Given the description of an element on the screen output the (x, y) to click on. 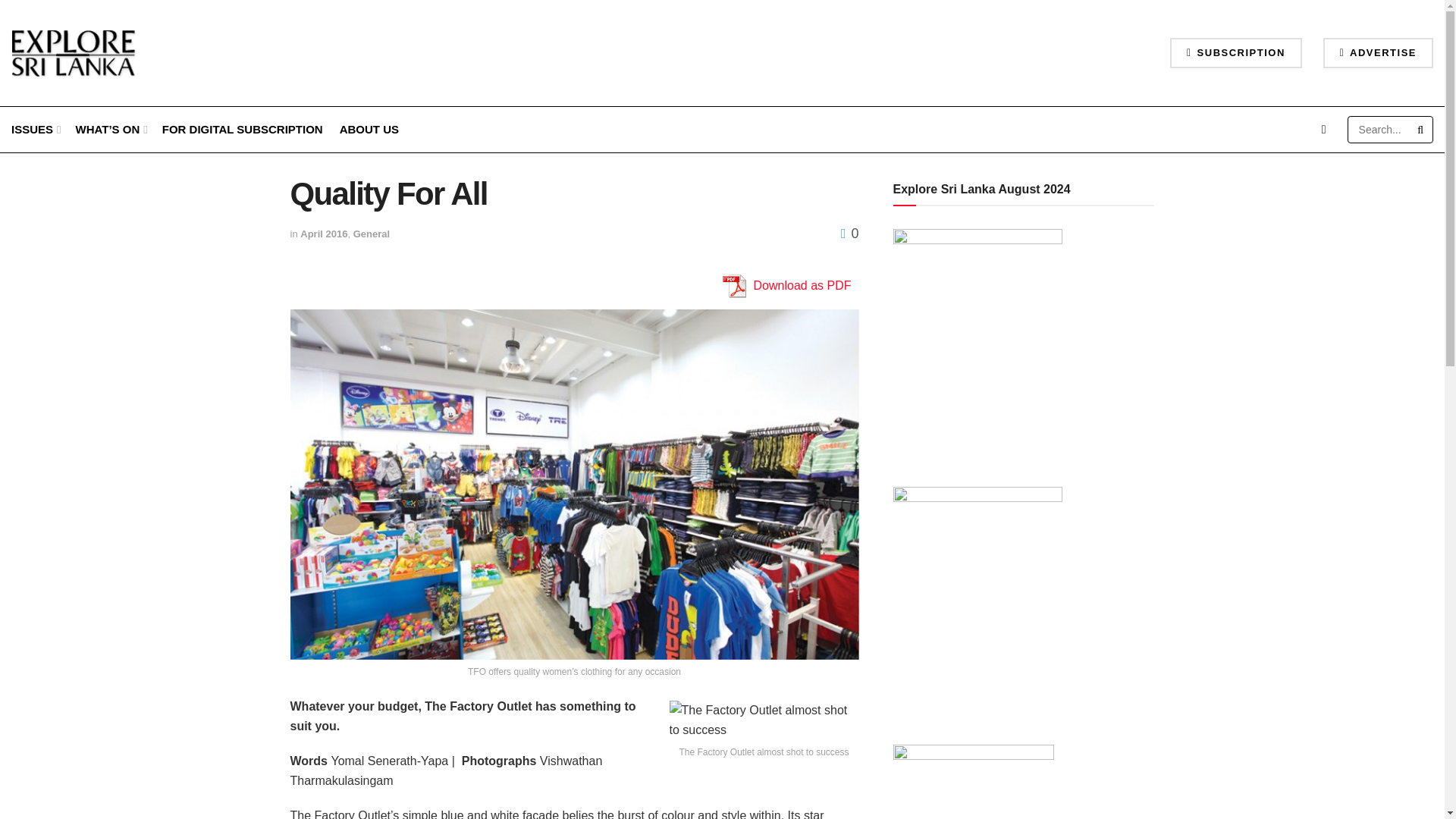
ADVERTISE (1377, 52)
ISSUES (35, 129)
SUBSCRIPTION (1235, 52)
View PDF (733, 286)
